Given the description of an element on the screen output the (x, y) to click on. 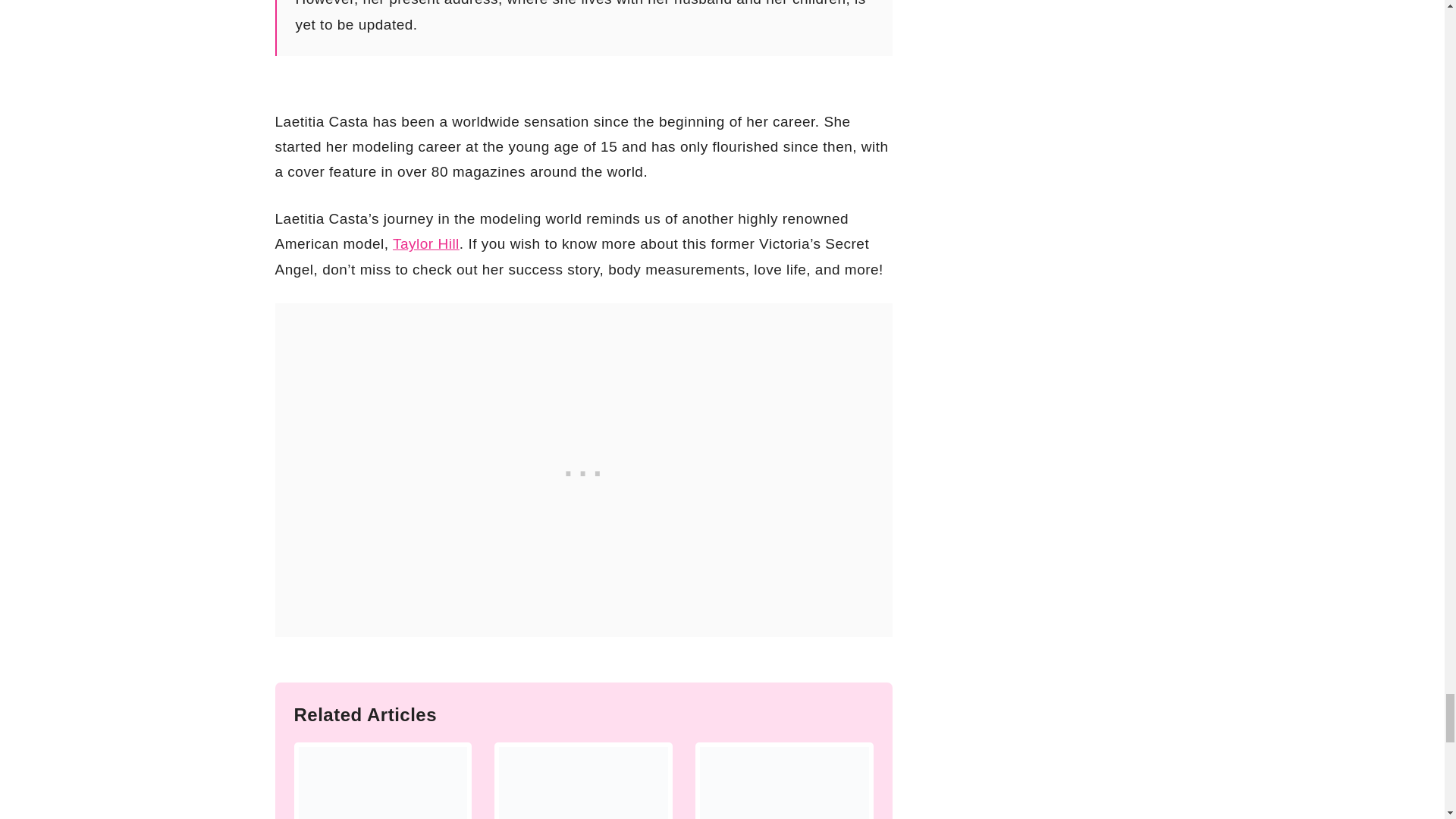
Taylor Hill (426, 243)
